Given the description of an element on the screen output the (x, y) to click on. 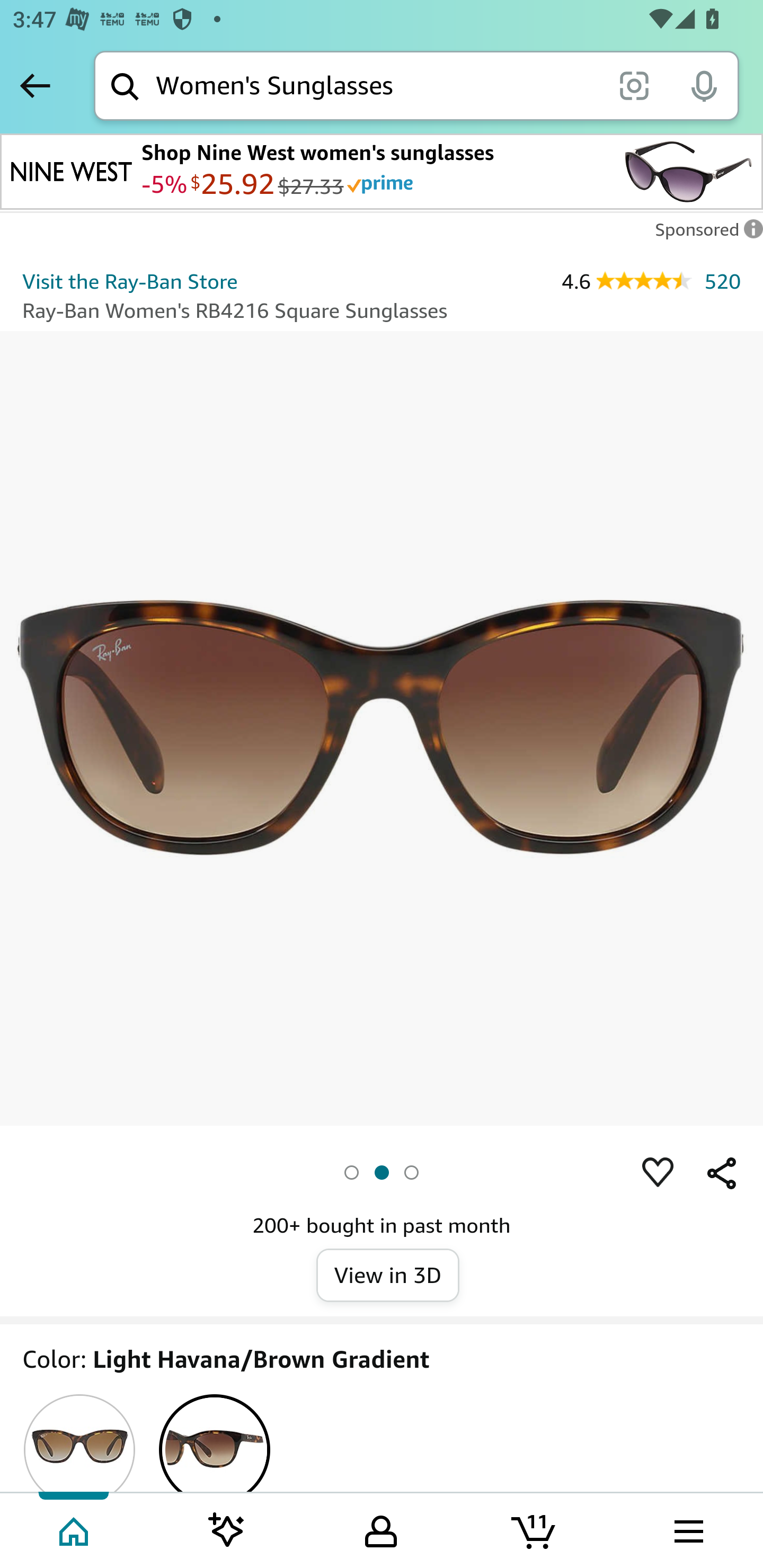
Back (35, 85)
scan it (633, 85)
Leave feedback on Sponsored ad Sponsored  (703, 234)
4.6 520 4.6  520 (650, 280)
Visit the Ray-Ban Store (130, 281)
Heart to save an item to your default list (657, 1173)
View in 3D (387, 1275)
Home Tab 1 of 5 (75, 1529)
Inspire feed Tab 2 of 5 (227, 1529)
Your Amazon.com Tab 3 of 5 (380, 1529)
Cart 11 items Tab 4 of 5 11 (534, 1529)
Browse menu Tab 5 of 5 (687, 1529)
